Given the description of an element on the screen output the (x, y) to click on. 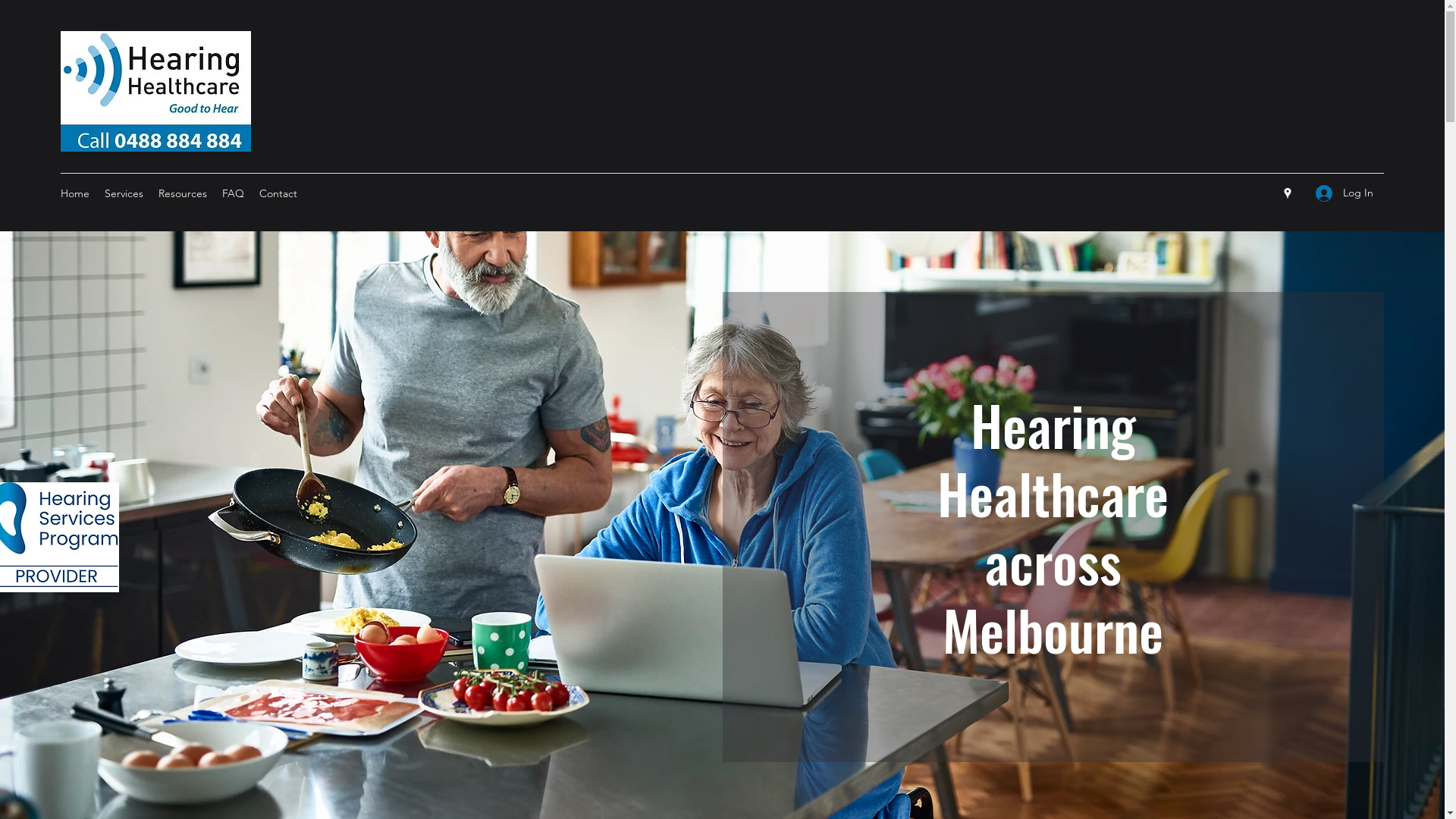
Home Element type: text (75, 193)
Resources Element type: text (182, 193)
Log In Element type: text (1344, 192)
FAQ Element type: text (232, 193)
Contact Element type: text (277, 193)
